Given the description of an element on the screen output the (x, y) to click on. 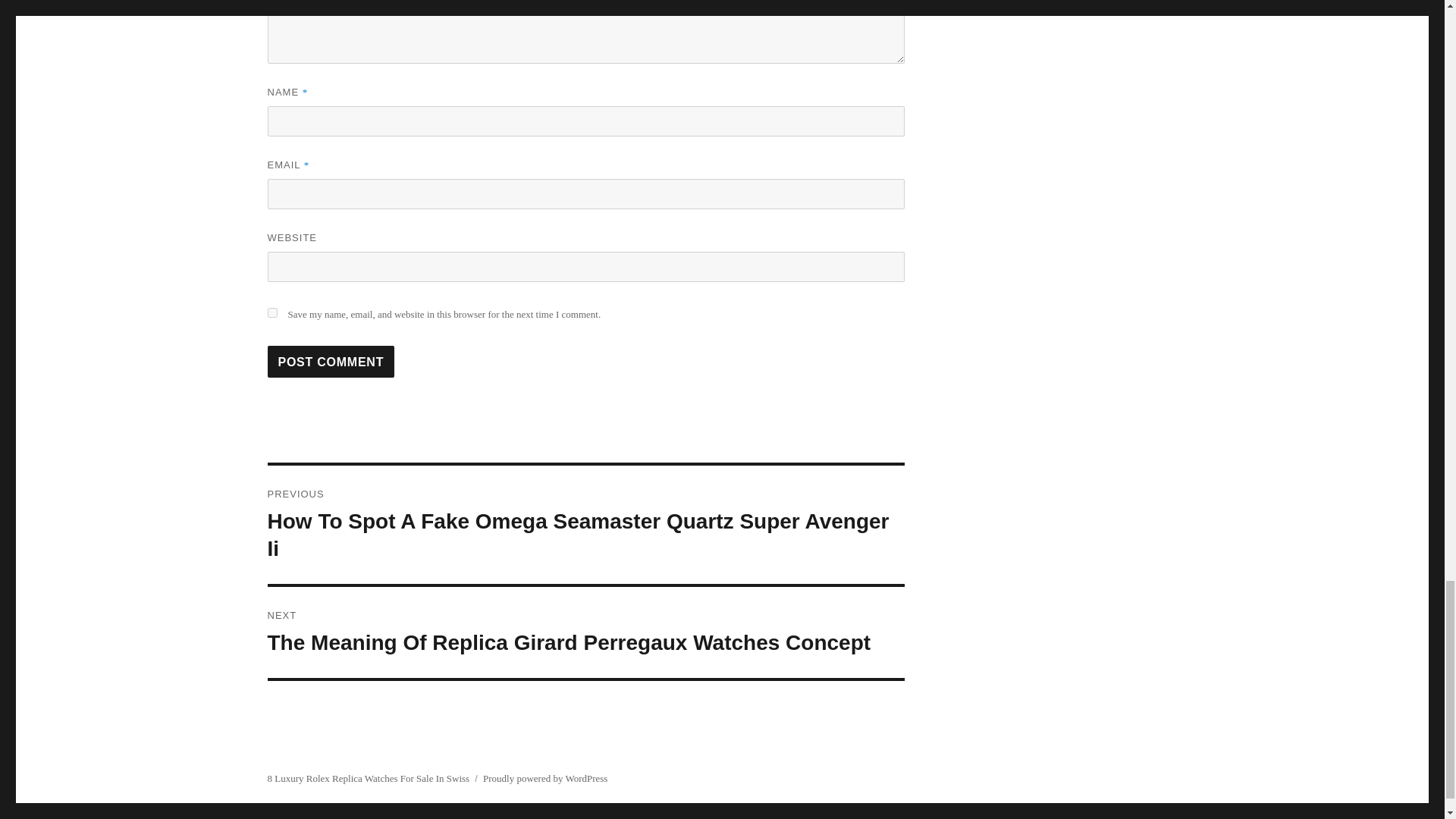
Post Comment (330, 361)
yes (271, 312)
Post Comment (330, 361)
